Given the description of an element on the screen output the (x, y) to click on. 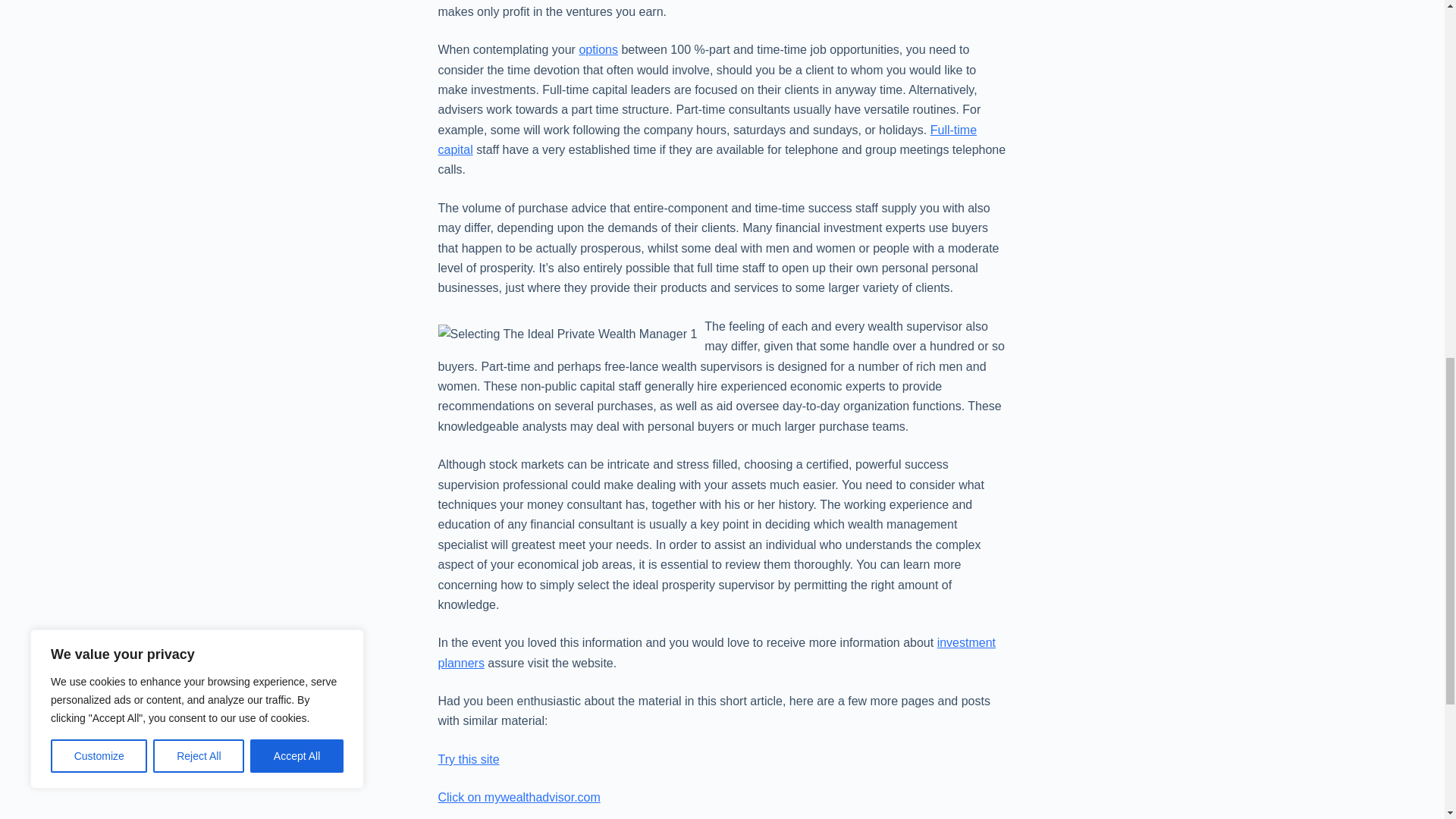
options (597, 49)
Try this site (468, 758)
Click on mywealthadvisor.com (518, 797)
investment planners (716, 652)
Full-time capital (707, 139)
